Given the description of an element on the screen output the (x, y) to click on. 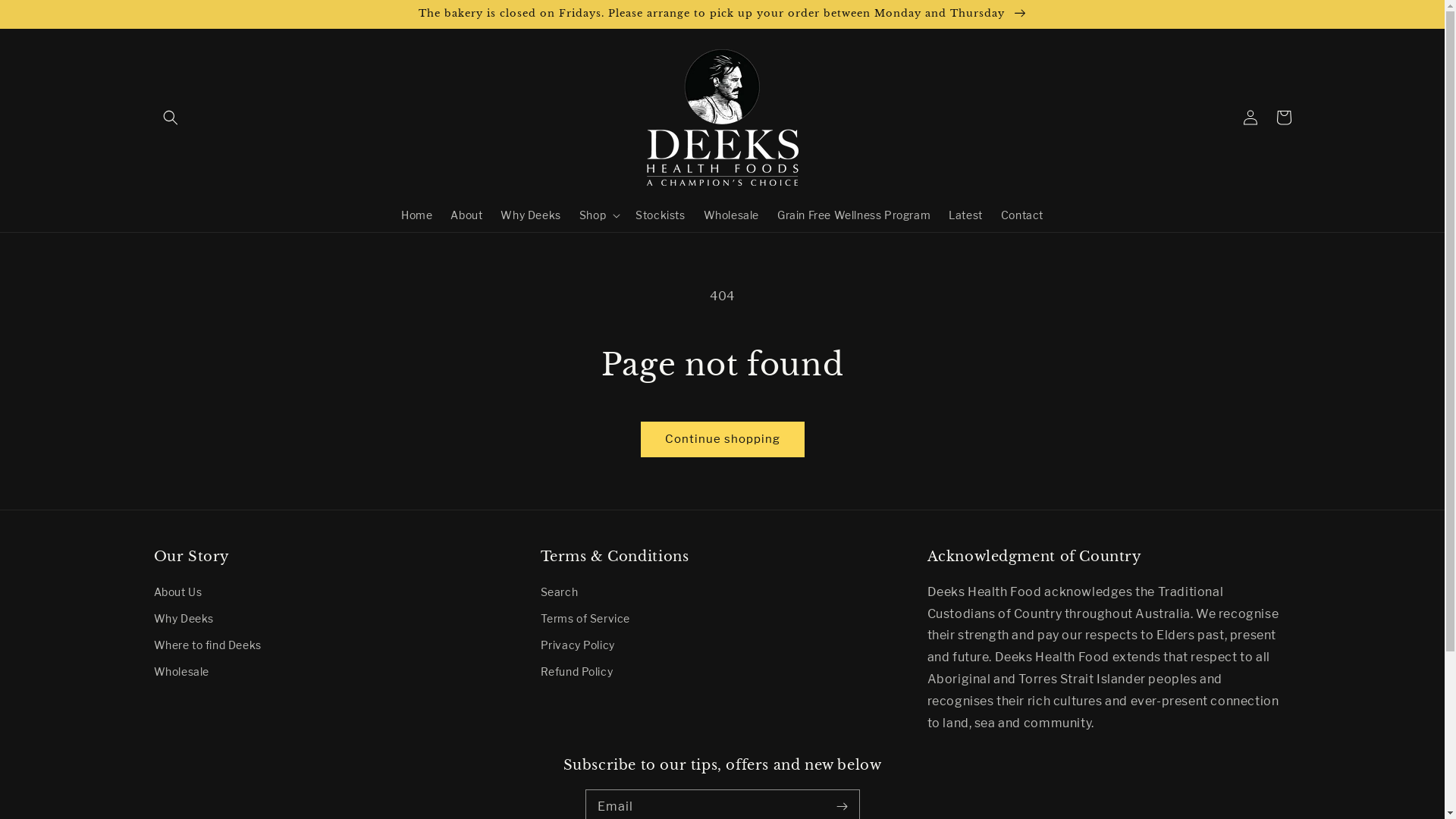
Latest Element type: text (965, 215)
Why Deeks Element type: text (183, 618)
Refund Policy Element type: text (575, 671)
Grain Free Wellness Program Element type: text (853, 215)
Wholesale Element type: text (731, 215)
Cart Element type: text (1282, 117)
Why Deeks Element type: text (530, 215)
Stockists Element type: text (659, 215)
Home Element type: text (416, 215)
Privacy Policy Element type: text (576, 644)
Where to find Deeks Element type: text (206, 644)
Contact Element type: text (1021, 215)
Continue shopping Element type: text (722, 439)
Search Element type: text (558, 593)
Terms of Service Element type: text (584, 618)
About Element type: text (466, 215)
Wholesale Element type: text (180, 671)
About Us Element type: text (177, 593)
Log in Element type: text (1249, 117)
